Given the description of an element on the screen output the (x, y) to click on. 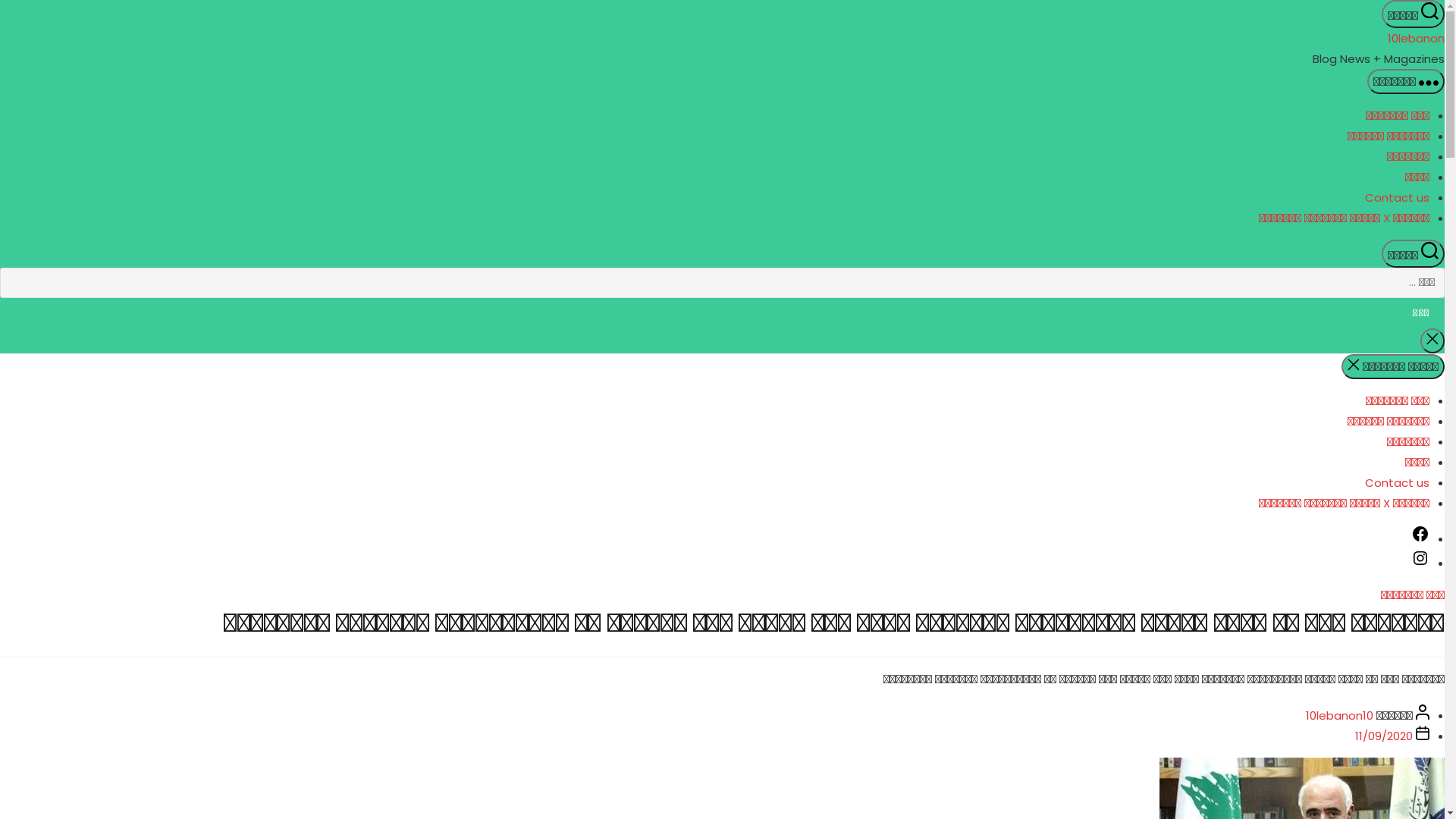
Instagram Element type: text (1420, 563)
Facebook Element type: text (1420, 538)
11/09/2020 Element type: text (1383, 735)
Contact us Element type: text (1397, 197)
10lebanon Element type: text (1415, 38)
Contact us Element type: text (1397, 482)
10lebanon10 Element type: text (1339, 715)
